Given the description of an element on the screen output the (x, y) to click on. 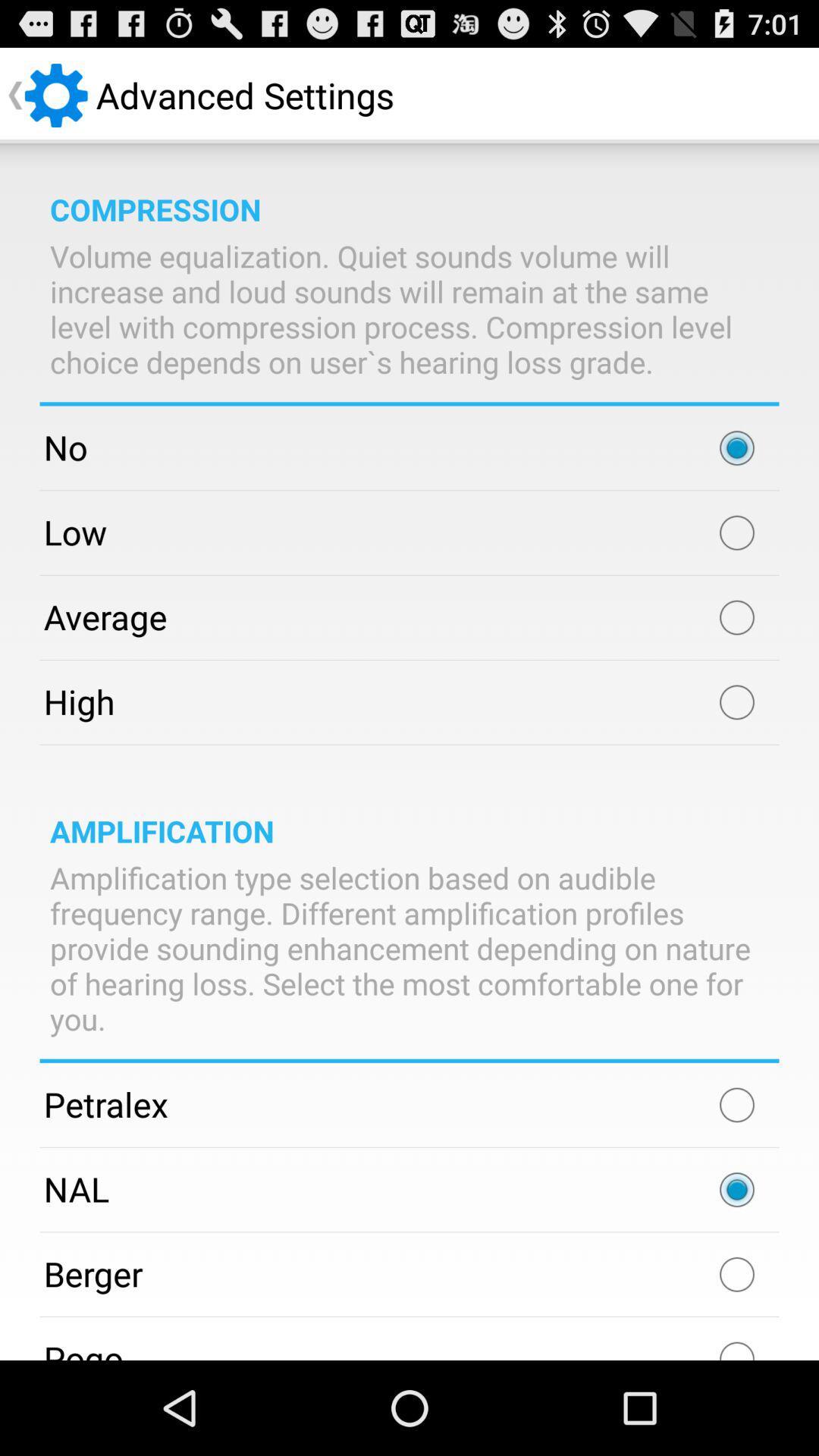
toggle average compression (736, 617)
